Given the description of an element on the screen output the (x, y) to click on. 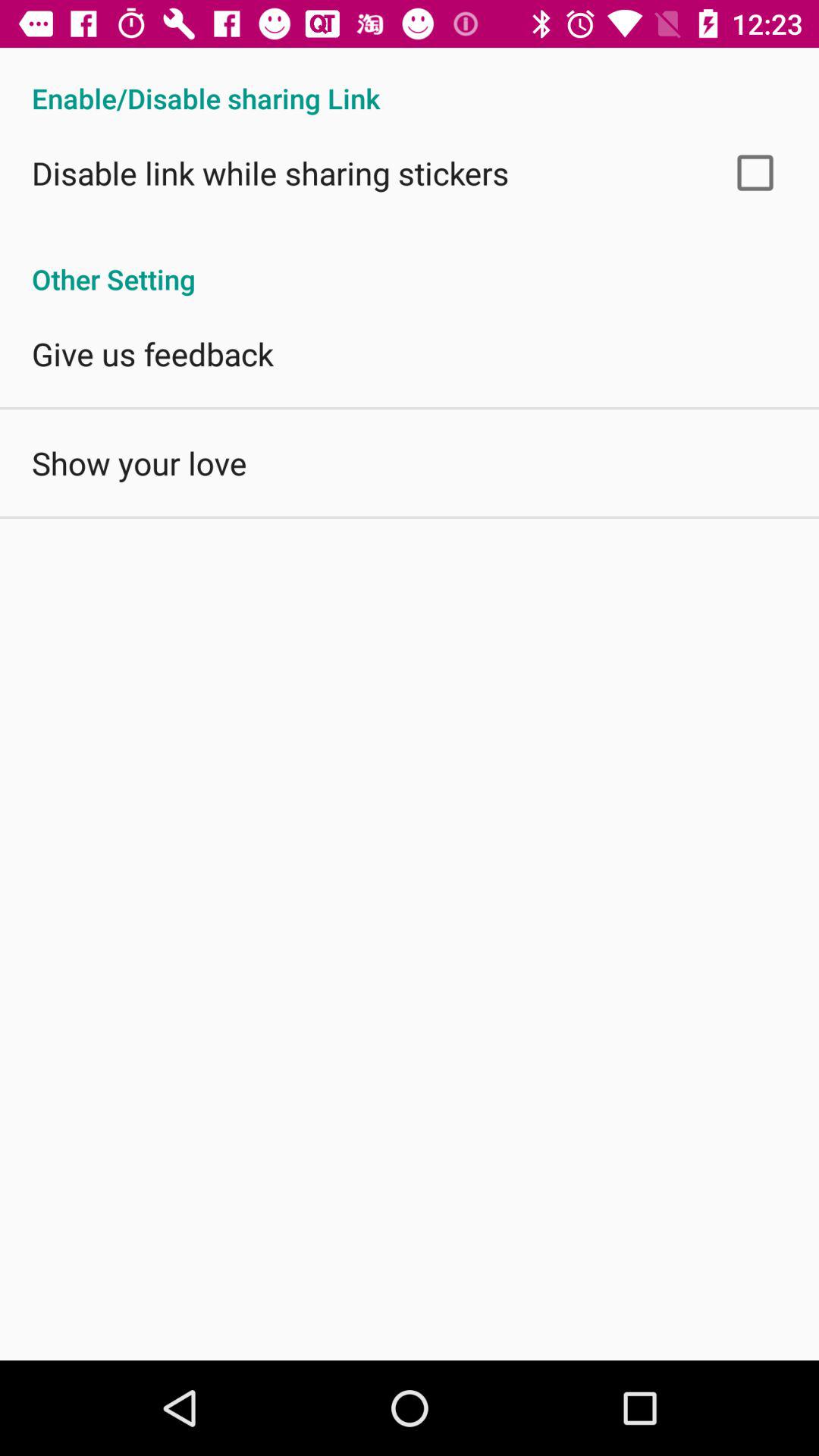
press icon at the top right corner (755, 172)
